Given the description of an element on the screen output the (x, y) to click on. 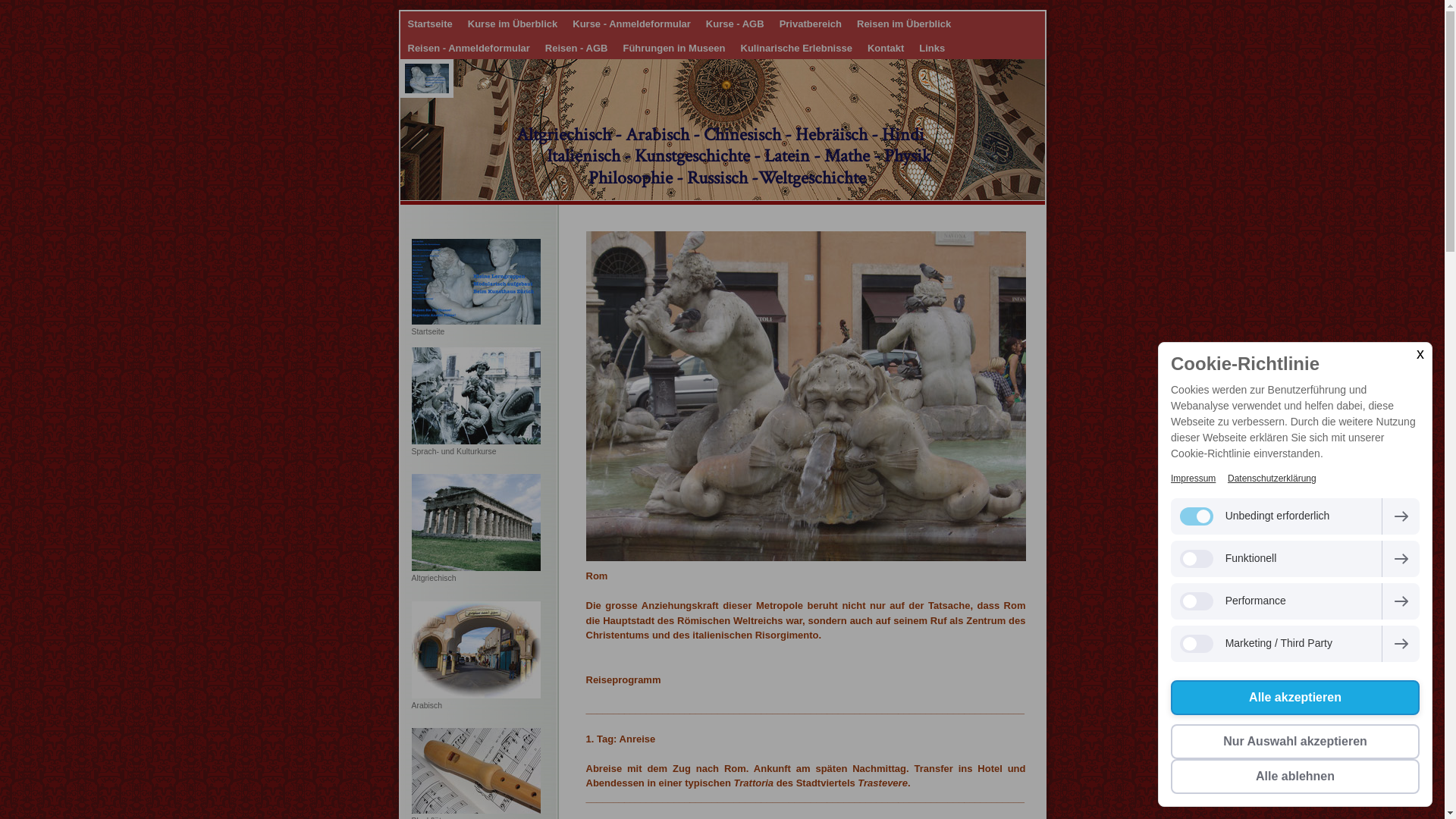
Privatbereich Element type: text (810, 23)
Nur Auswahl akzeptieren Element type: text (1294, 741)
Impressum Element type: text (1192, 478)
Startseite Element type: text (430, 23)
Reisen - Anmeldeformular Element type: text (468, 47)
Alle ablehnen Element type: text (1294, 776)
Reisen - AGB Element type: text (576, 47)
Kontakt Element type: text (885, 47)
Kurse - AGB Element type: text (734, 23)
Kurse - Anmeldeformular Element type: text (631, 23)
Alle akzeptieren Element type: text (1294, 697)
Links Element type: text (931, 47)
Kulinarische Erlebnisse Element type: text (795, 47)
